Given the description of an element on the screen output the (x, y) to click on. 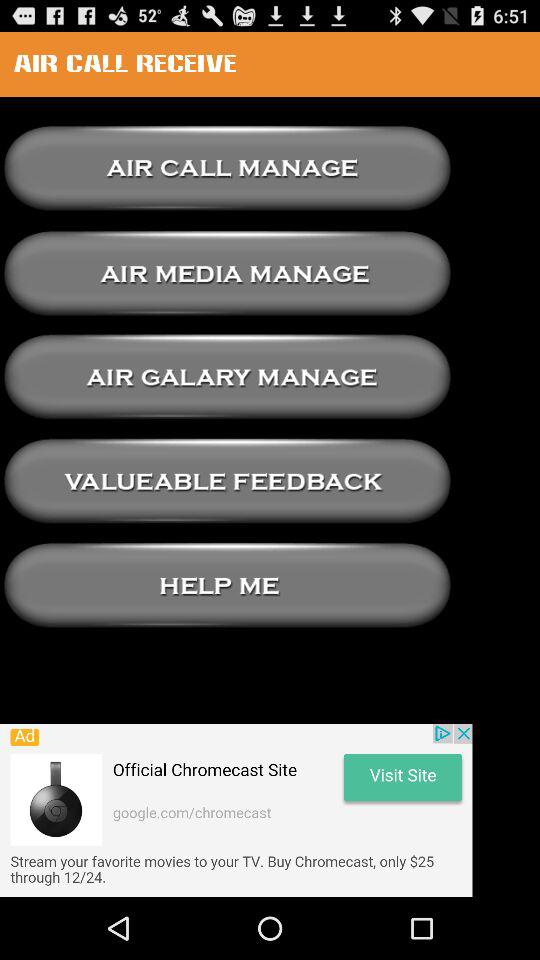
go to back (227, 377)
